Given the description of an element on the screen output the (x, y) to click on. 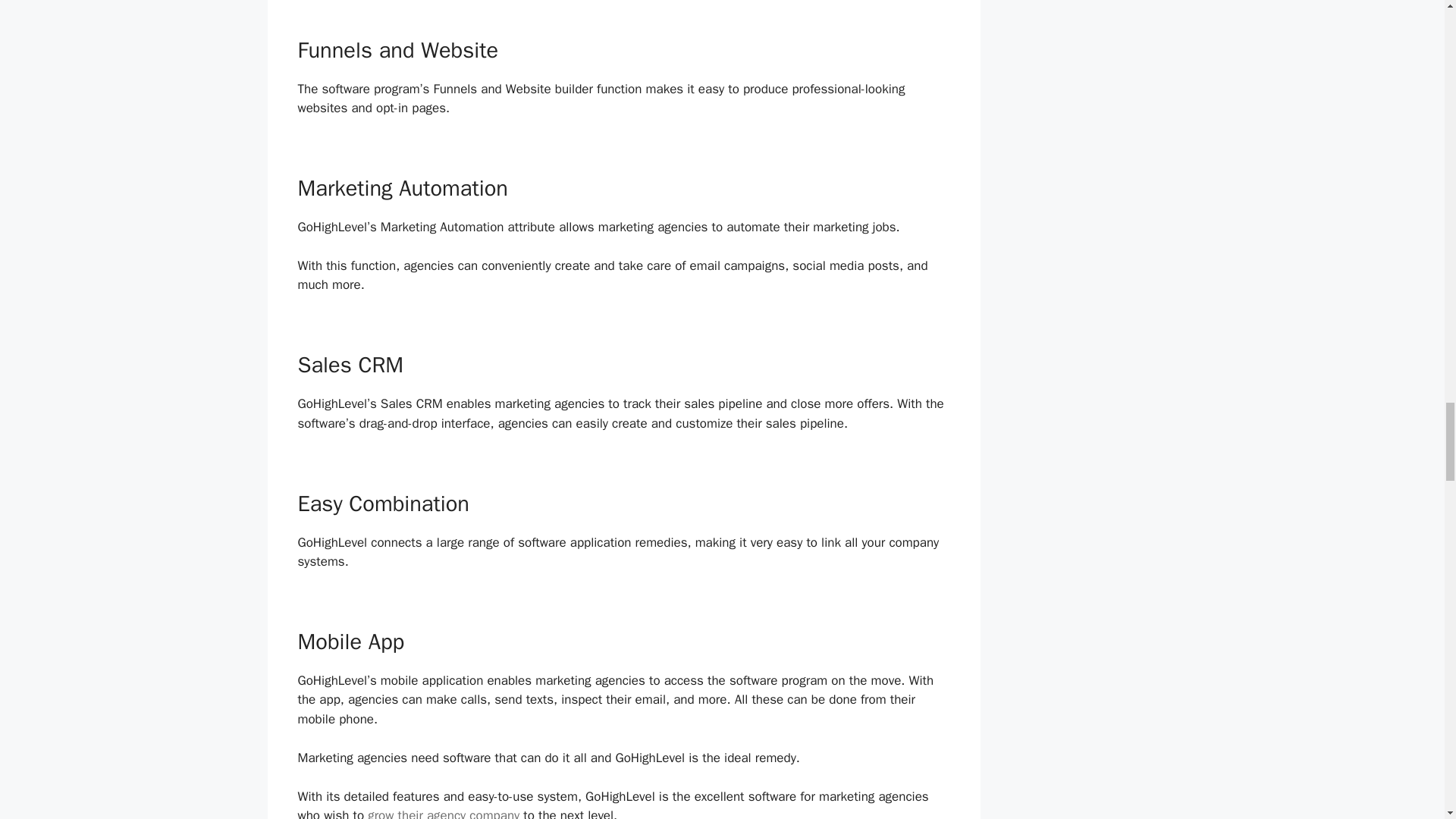
grow their agency company (443, 813)
